Given the description of an element on the screen output the (x, y) to click on. 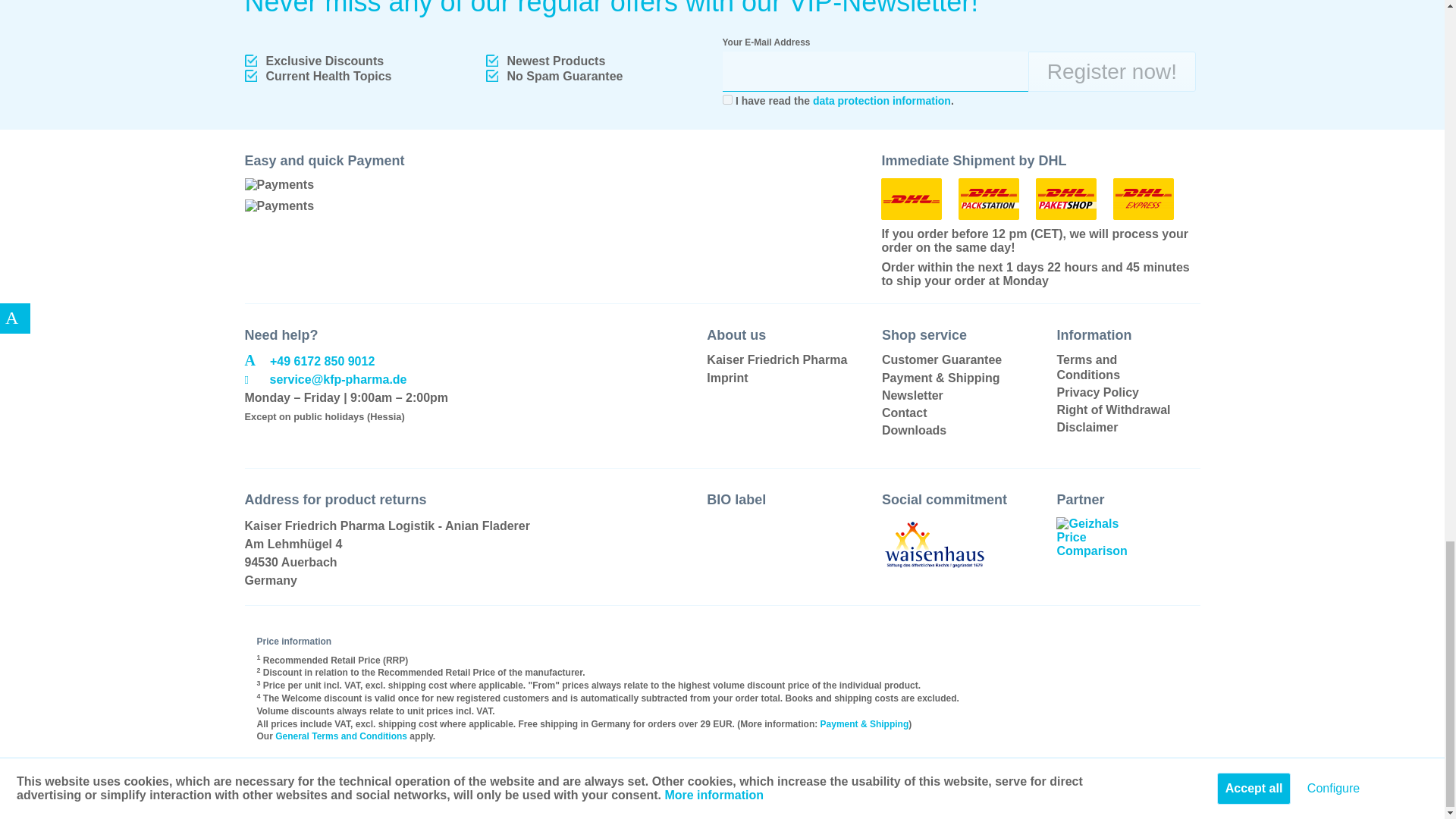
1 (727, 99)
